Given the description of an element on the screen output the (x, y) to click on. 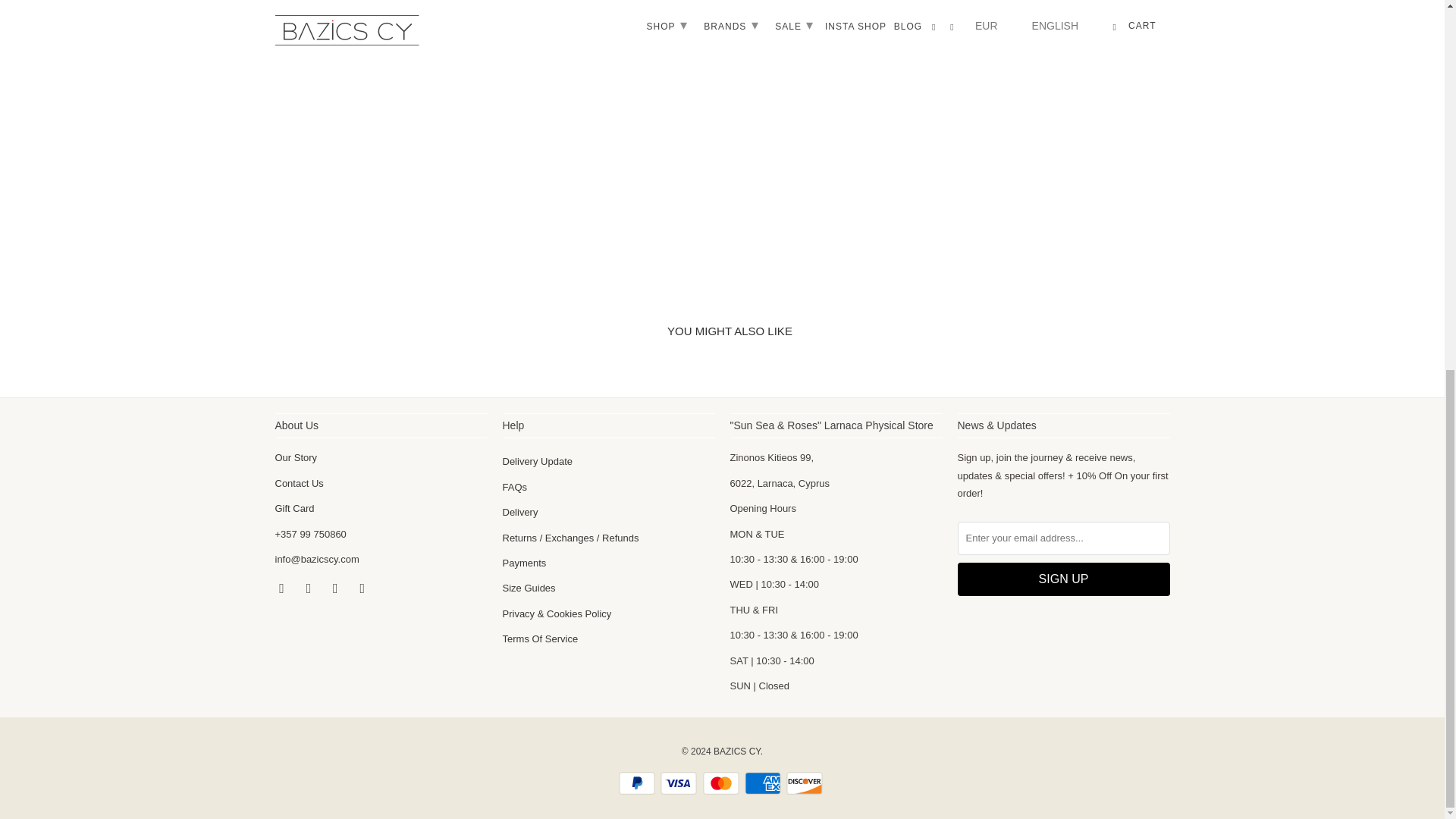
Mastercard (721, 783)
American Express (764, 783)
Discover (805, 783)
PayPal (638, 783)
Our Story (296, 457)
Gift Card - Bazics CY (294, 508)
Sign Up (1062, 579)
Contact Us (299, 482)
Visa (680, 783)
